Given the description of an element on the screen output the (x, y) to click on. 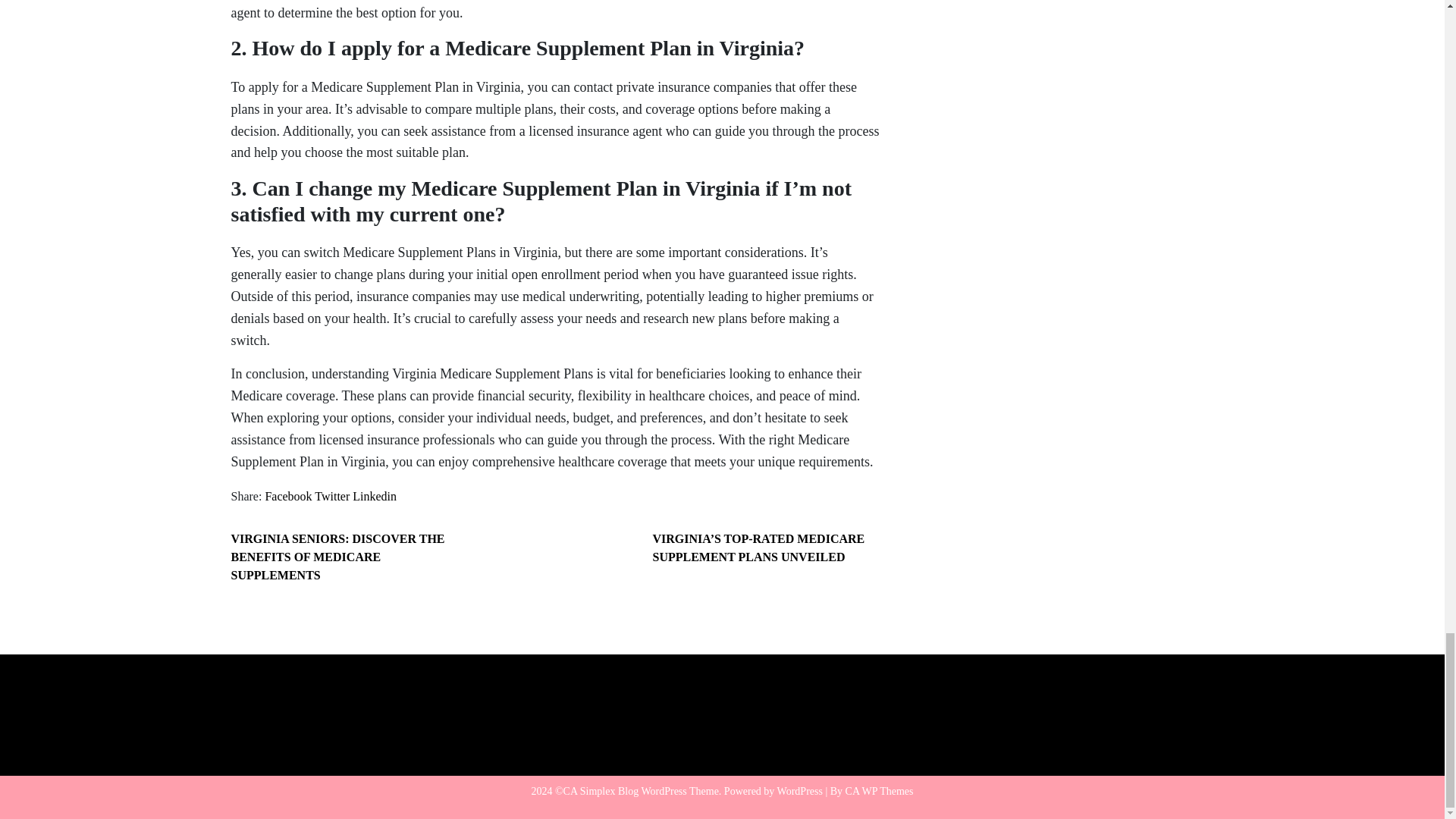
Linkedin (374, 495)
Twitter (331, 495)
Facebook (287, 495)
CA WP Themes (879, 790)
